Given the description of an element on the screen output the (x, y) to click on. 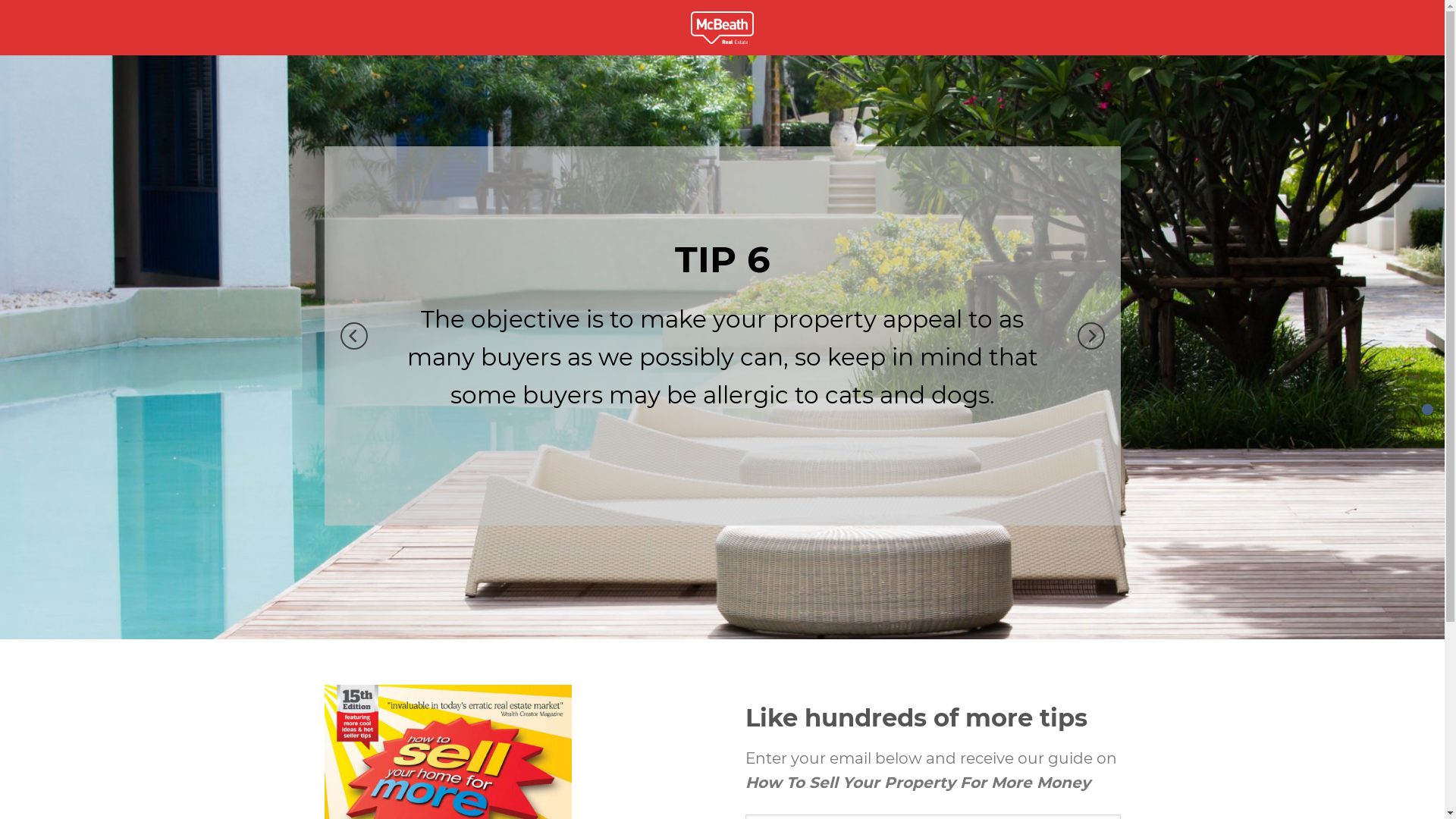
McBeath Real Estate - Real Estate Agents Element type: hover (721, 27)
Skip to content Element type: text (0, 0)
